Given the description of an element on the screen output the (x, y) to click on. 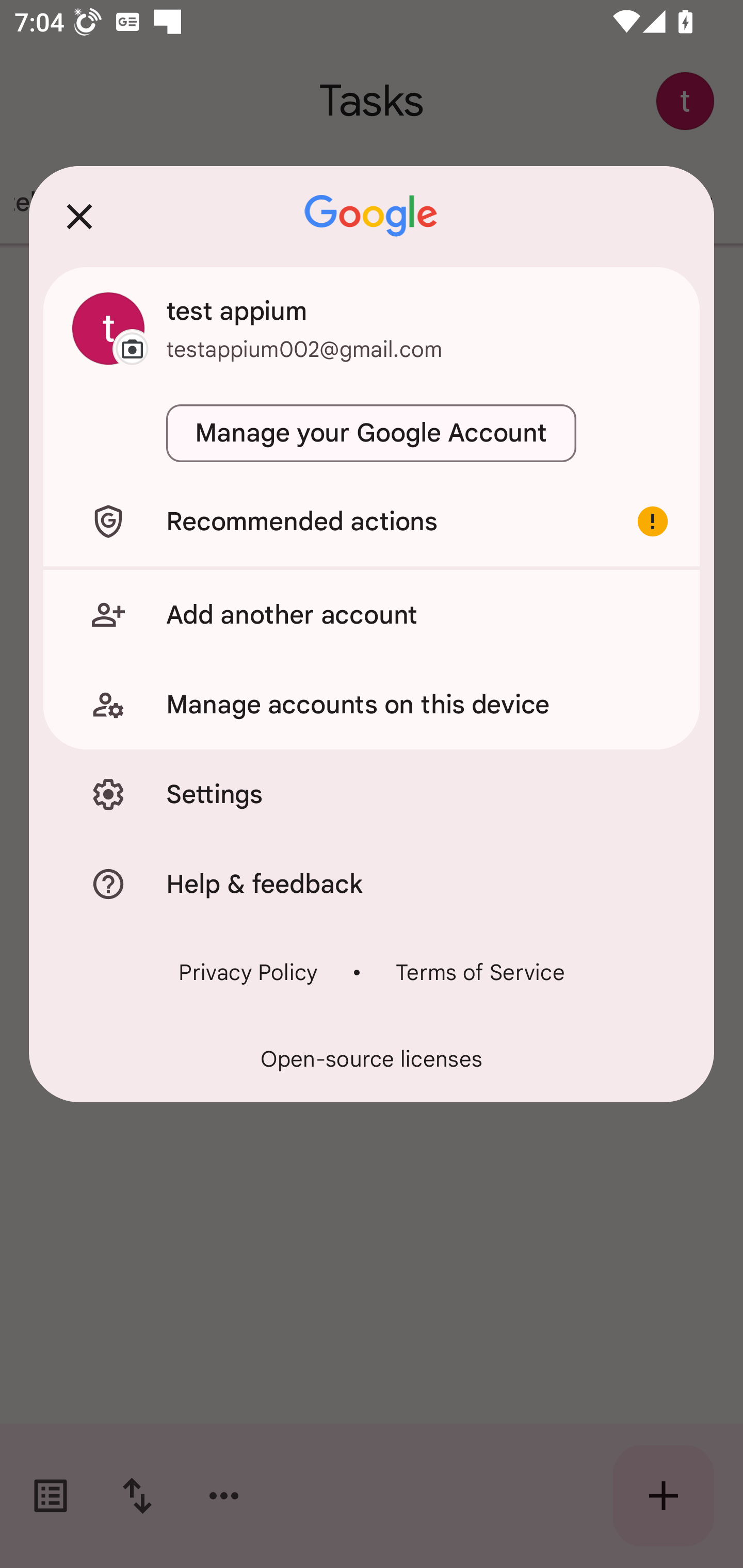
Close (79, 216)
Change profile picture. (108, 328)
Manage your Google Account (371, 433)
Recommended actions Important account alert (371, 521)
Add another account (371, 614)
Manage accounts on this device (371, 704)
Settings (371, 793)
Help & feedback (371, 883)
Privacy Policy (247, 972)
Terms of Service (479, 972)
Open-source licenses (371, 1059)
